Given the description of an element on the screen output the (x, y) to click on. 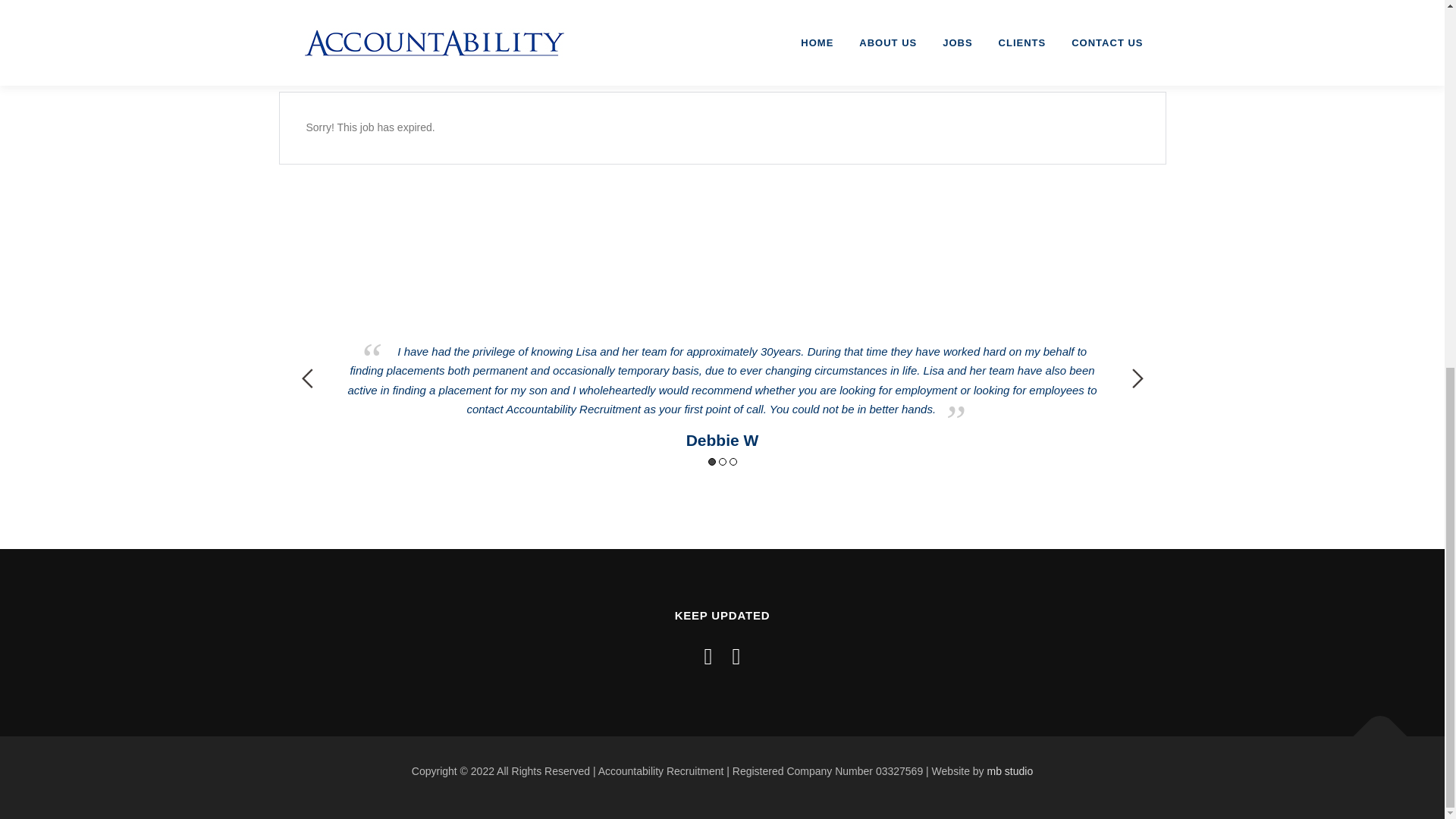
2 (722, 461)
Next (1136, 378)
LinkedIn (736, 656)
Back To Top (1372, 728)
1 (711, 461)
Facebook (708, 656)
Previous (307, 378)
mb studio (1009, 770)
3 (732, 461)
